Given the description of an element on the screen output the (x, y) to click on. 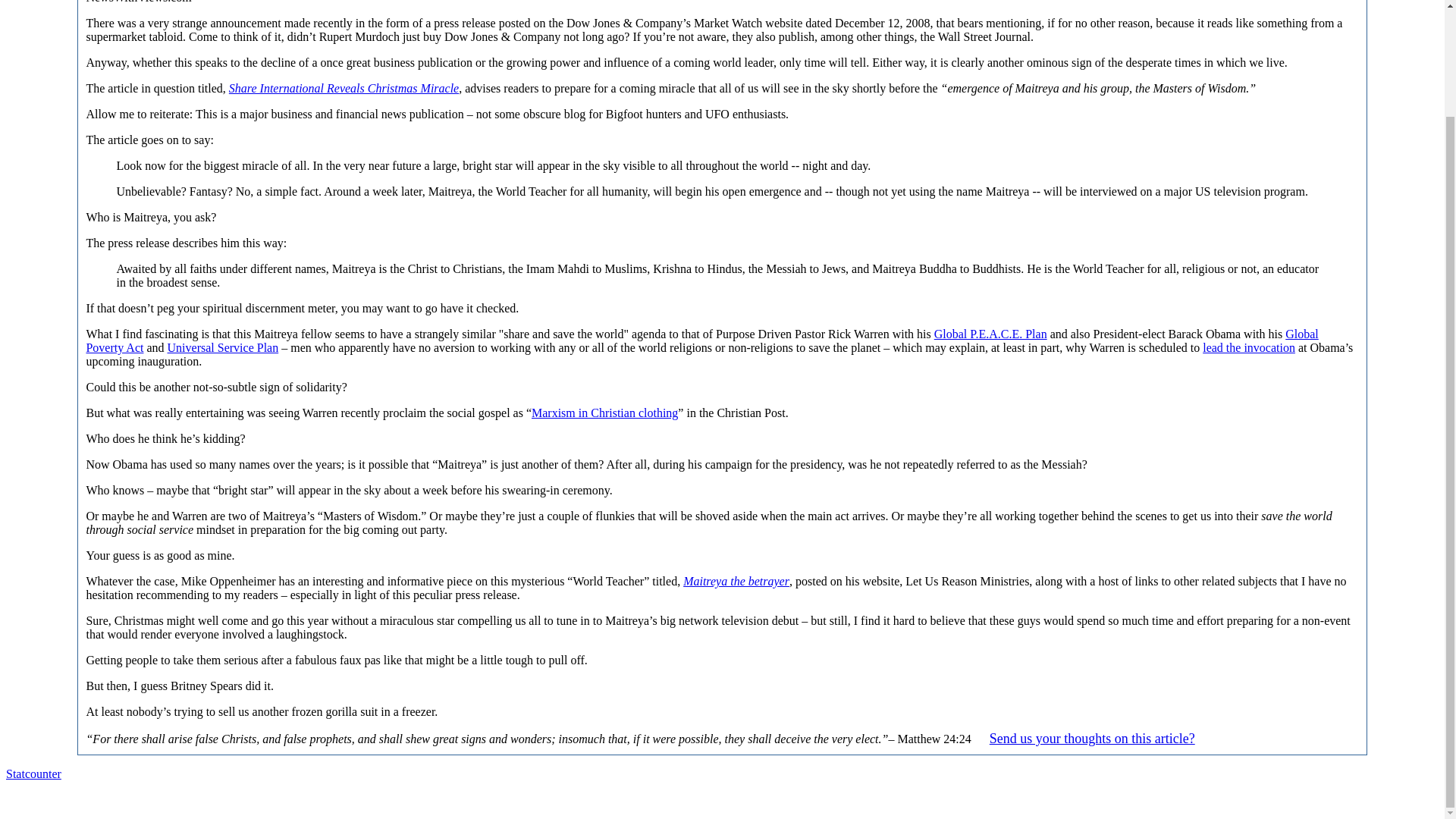
Universal Service Plan (223, 347)
Share International Reveals Christmas Miracle (343, 88)
Send us your thoughts on this article? (1092, 738)
Marxism in Christian clothing (604, 412)
Maitreya the betrayer (735, 581)
Global P.E.A.C.E. Plan (990, 333)
Global Poverty Act (701, 340)
Statcounter (33, 773)
lead the invocation (1248, 347)
